Given the description of an element on the screen output the (x, y) to click on. 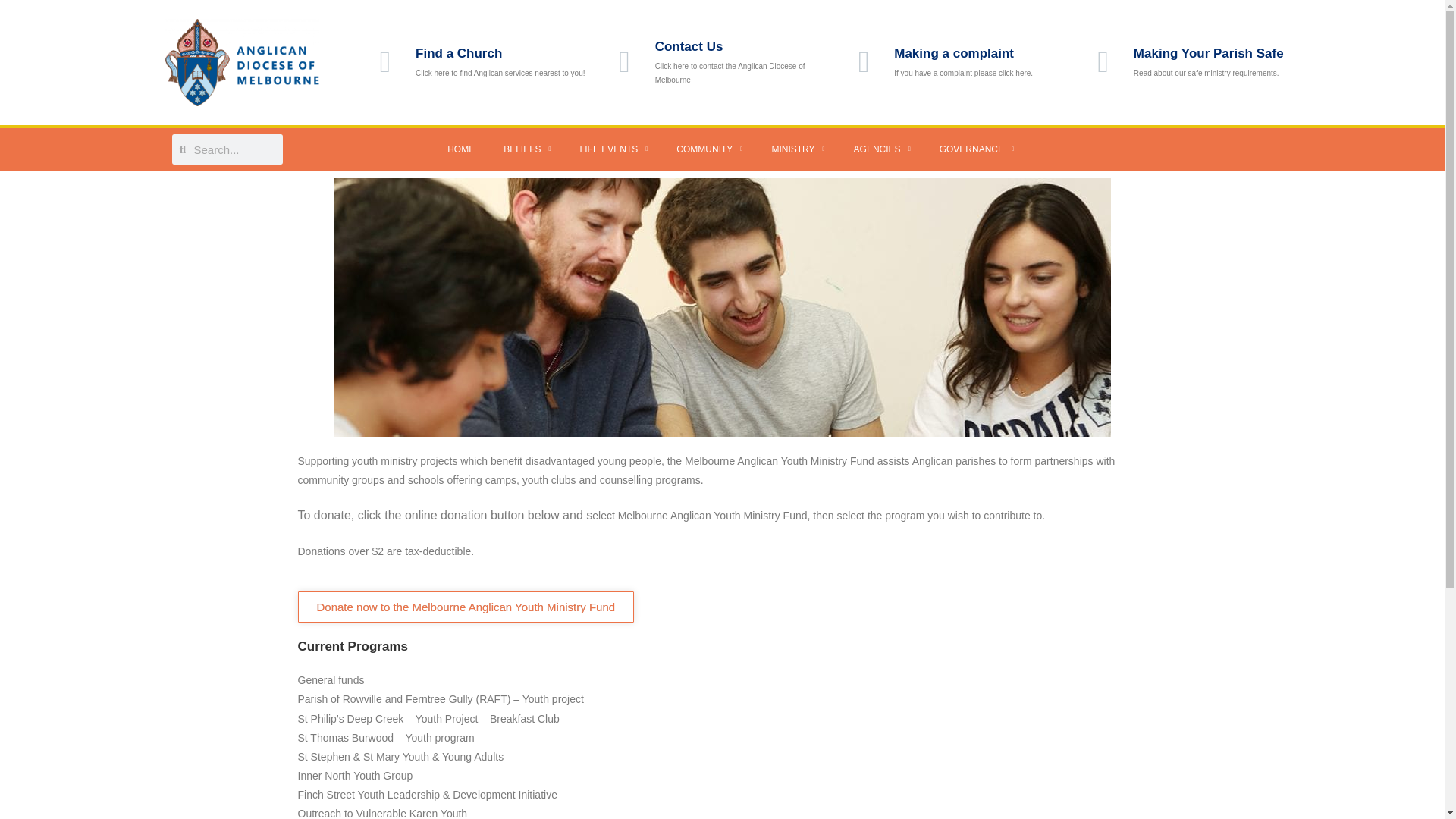
Contact Us (689, 46)
Find a Church (458, 52)
Making a complaint (953, 52)
LIFE EVENTS (614, 148)
MINISTRY (797, 148)
COMMUNITY (709, 148)
HOME (460, 148)
Making Your Parish Safe (1209, 52)
BELIEFS (526, 148)
